Given the description of an element on the screen output the (x, y) to click on. 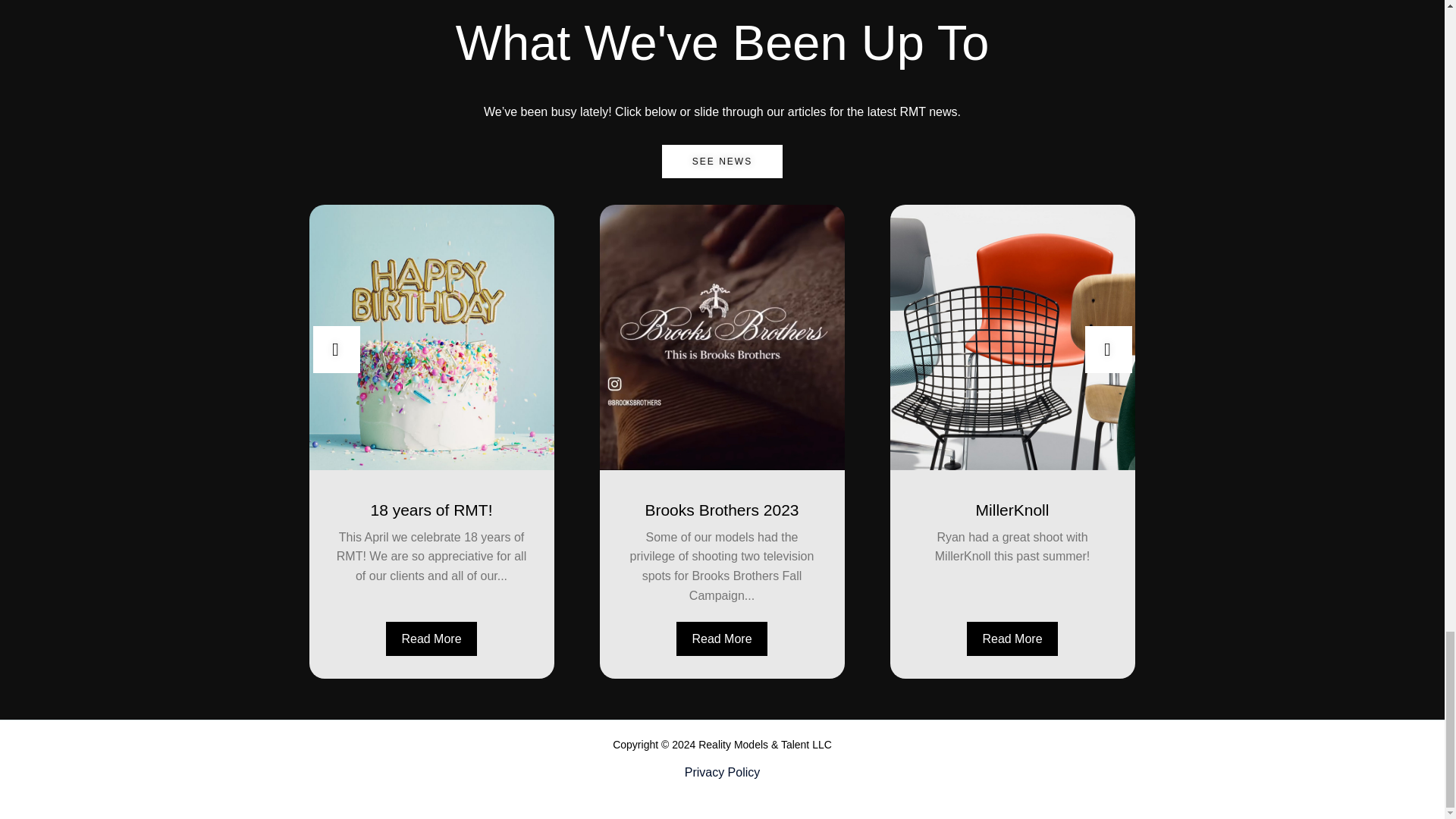
Read More (430, 638)
SEE NEWS (722, 161)
Brooks Brothers 2023 (721, 506)
previous item (336, 349)
18 years of RMT! (431, 506)
next item (1107, 349)
